Given the description of an element on the screen output the (x, y) to click on. 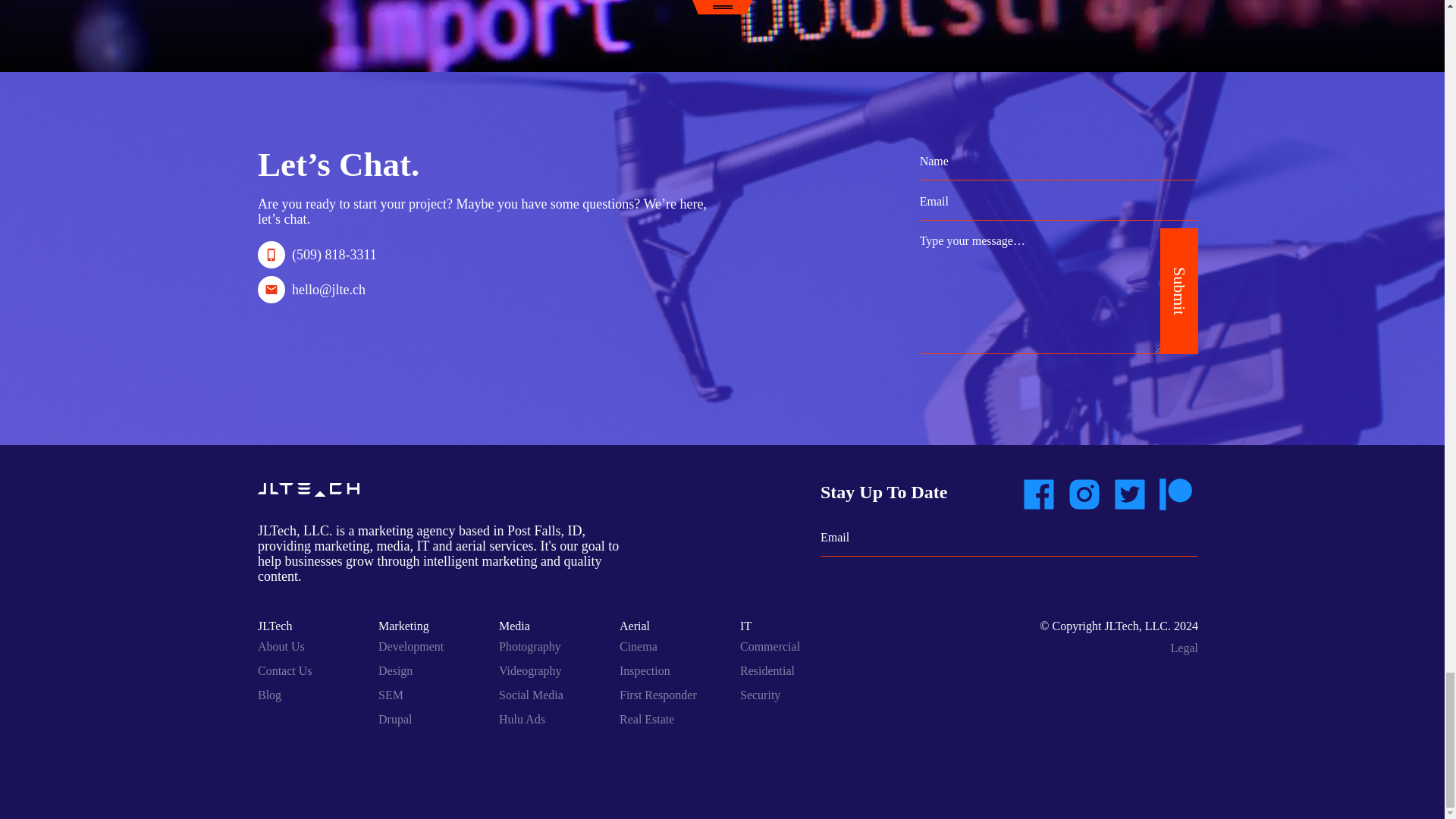
SEM (390, 694)
Aerial (634, 625)
Inspection (644, 670)
Cinema (639, 645)
Real Estate (647, 718)
Development (411, 645)
About Us (280, 645)
Videography (530, 670)
First Responder (658, 694)
Photography (529, 645)
Hulu Ads (521, 718)
Media (514, 625)
Marketing (403, 625)
IT (745, 625)
Design (395, 670)
